Given the description of an element on the screen output the (x, y) to click on. 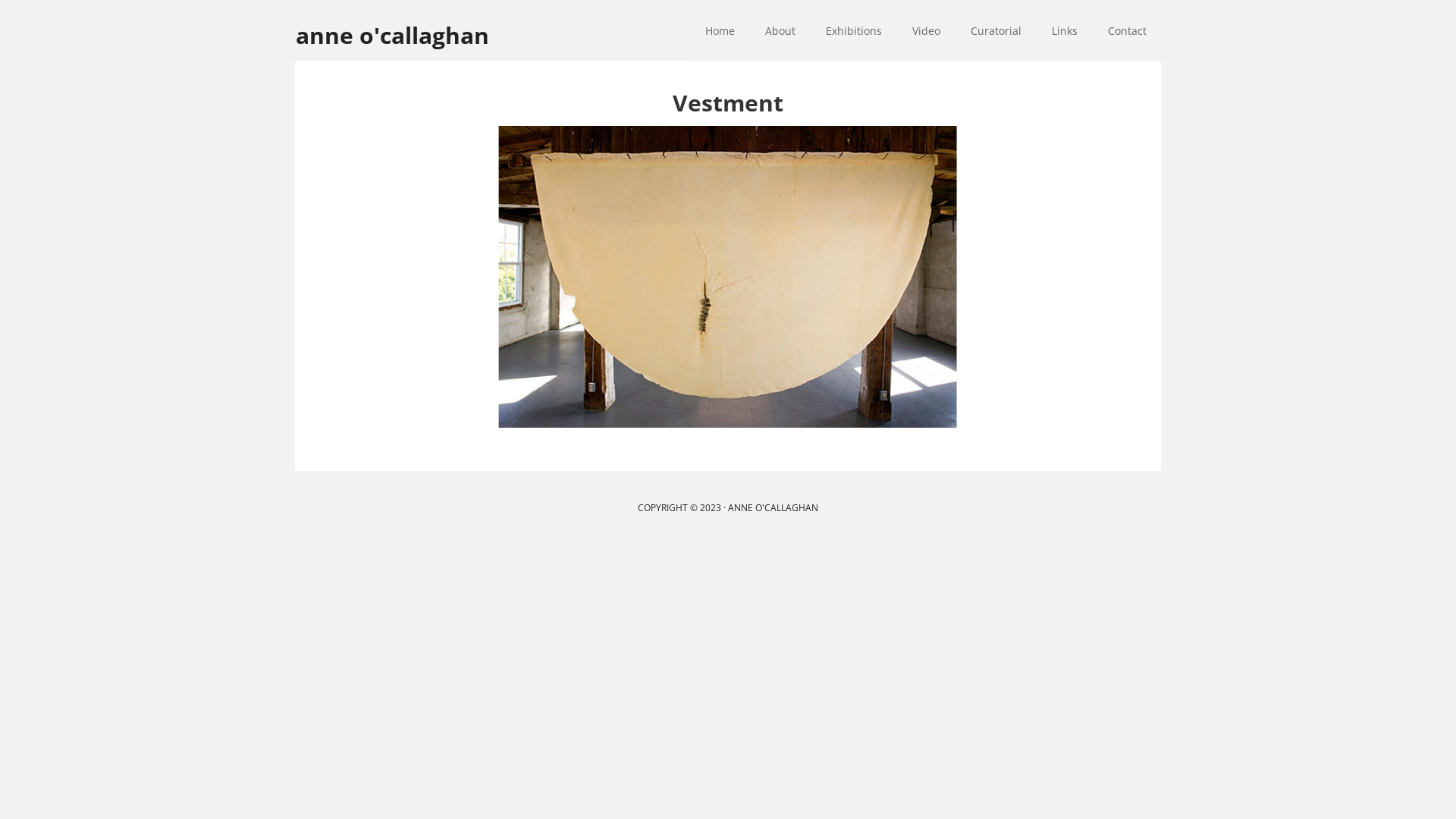
Links Element type: text (1064, 30)
Video Element type: text (925, 30)
About Element type: text (780, 30)
Contact Element type: text (1127, 30)
Curatorial Element type: text (996, 30)
anne o'callaghan Element type: text (416, 25)
Exhibitions Element type: text (853, 30)
Home Element type: text (719, 30)
